Given the description of an element on the screen output the (x, y) to click on. 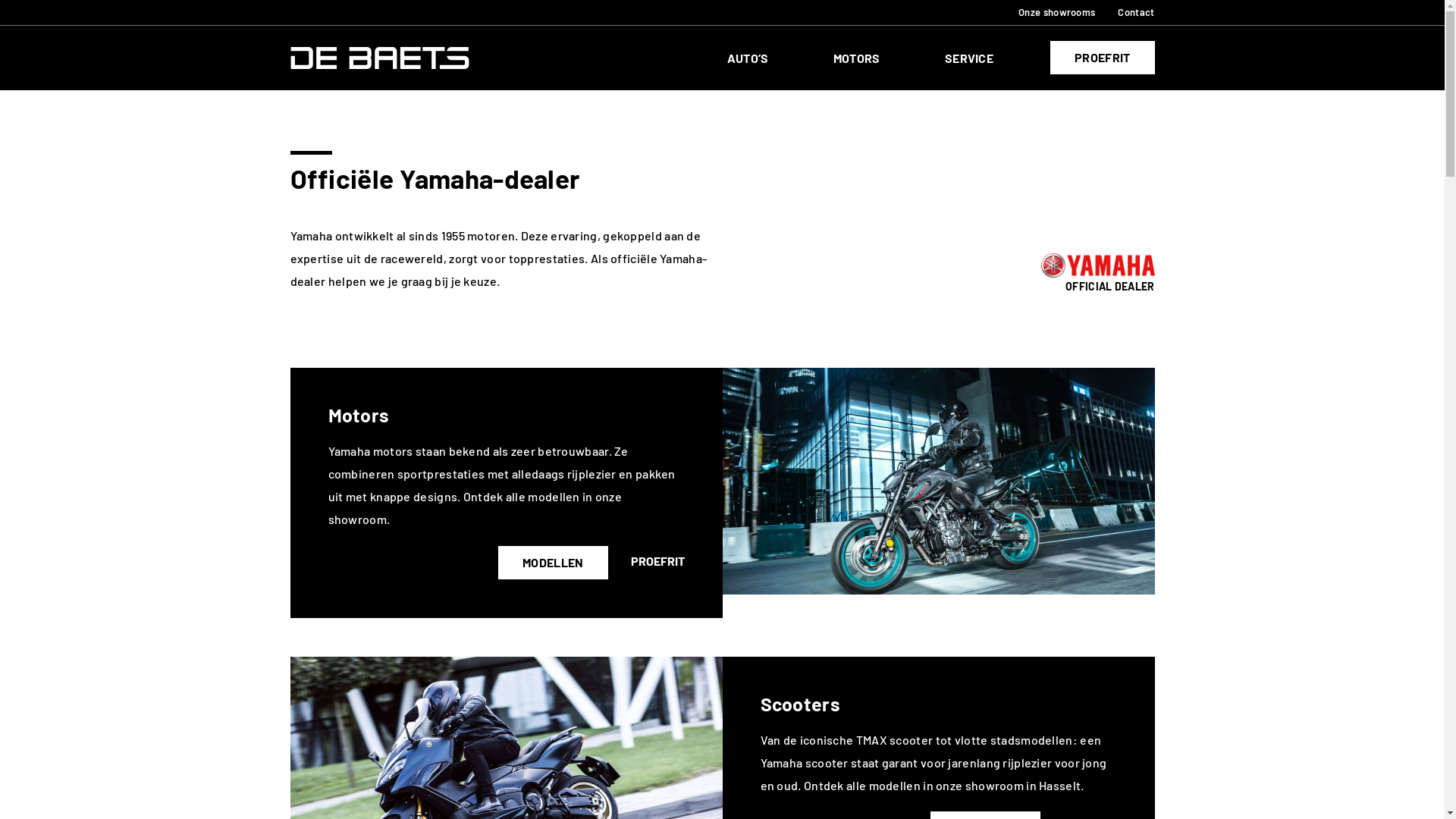
Contact Element type: text (1135, 12)
MOTORS Element type: text (888, 57)
MODELLEN Element type: text (552, 562)
OFFICIAL DEALER Element type: text (1109, 285)
PROEFRIT Element type: text (657, 561)
SERVICE Element type: text (997, 57)
Onze showrooms Element type: text (1056, 12)
PROEFRIT Element type: text (1102, 57)
